Given the description of an element on the screen output the (x, y) to click on. 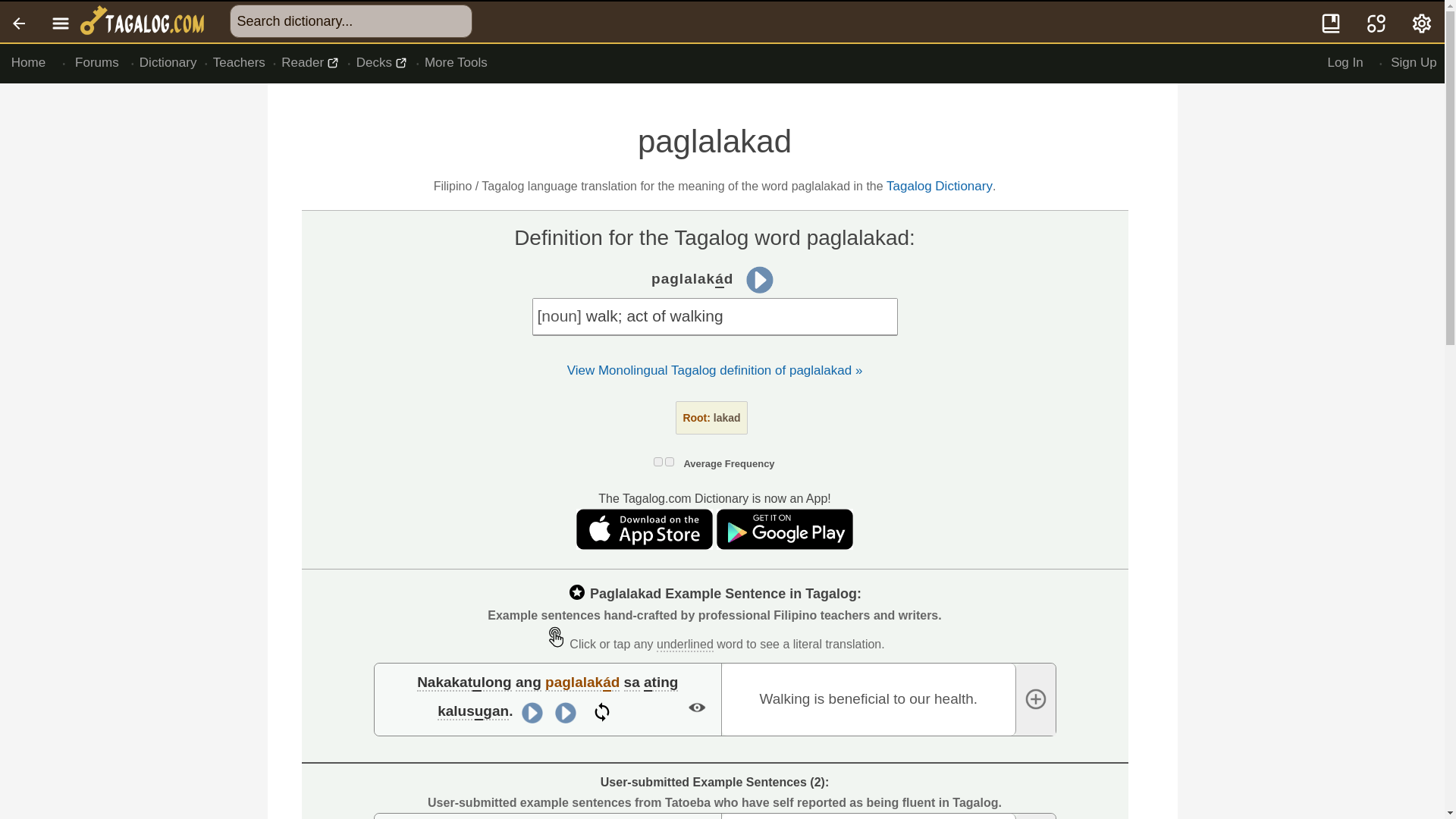
More Tools (455, 62)
Home (28, 62)
Sign Up (1414, 62)
Audio Looping (601, 712)
Average Frequency (728, 463)
Tagalog Dictionary (939, 186)
Translate To English (1376, 21)
Dictionary (167, 62)
Reader (310, 62)
Decks (381, 62)
Back Link (19, 21)
Root: lakad (710, 417)
Quick Dictionary Search (1331, 21)
Teachers (239, 62)
My Account (1422, 21)
